Given the description of an element on the screen output the (x, y) to click on. 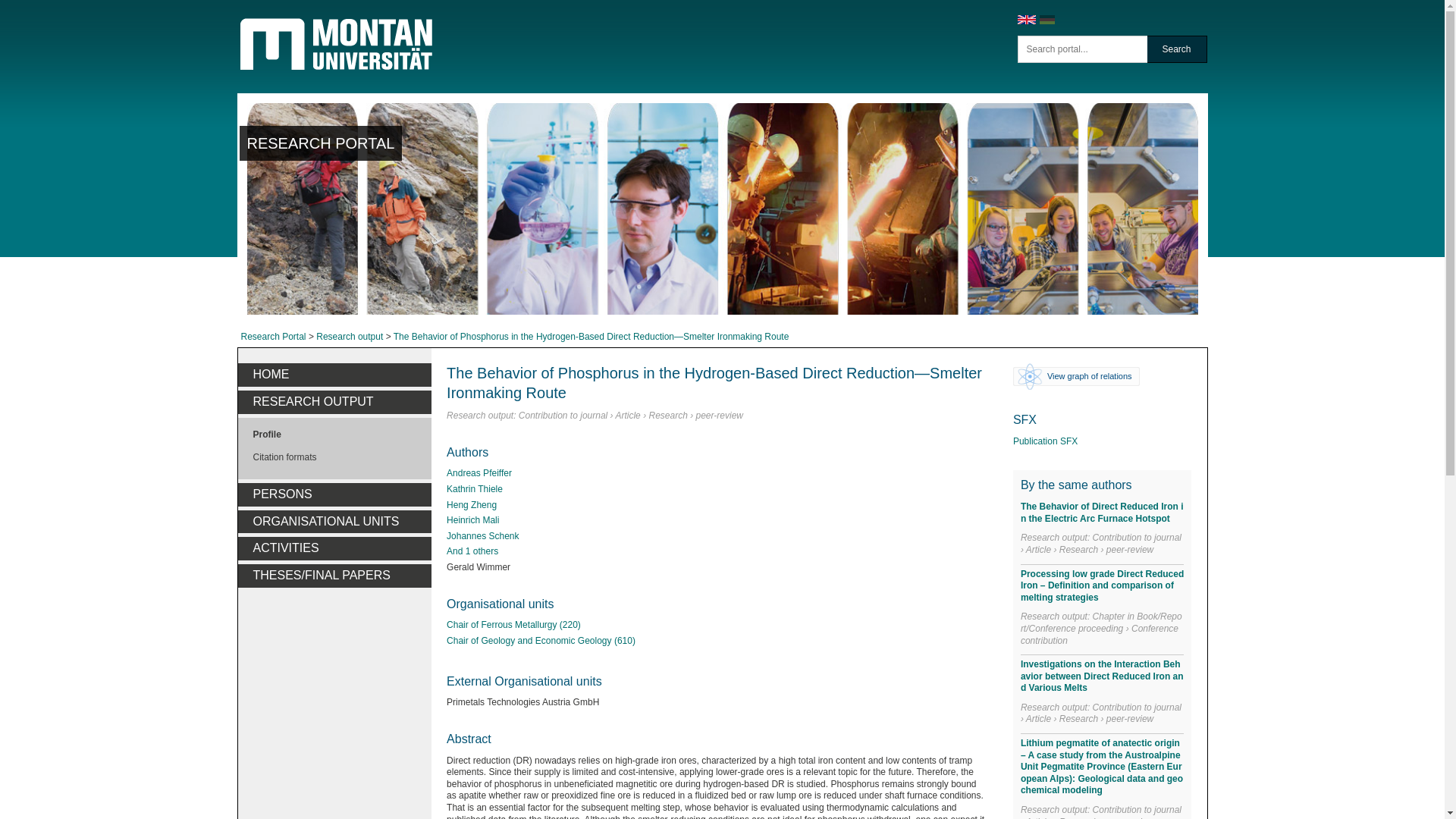
Search (1177, 49)
View graph of relations (1075, 376)
ORGANISATIONAL UNITS (335, 521)
Heng Zheng (471, 505)
Profile (335, 435)
Publication SFX (1045, 440)
Deutsch (1046, 21)
Johannes Schenk (482, 536)
Search (1177, 49)
